Given the description of an element on the screen output the (x, y) to click on. 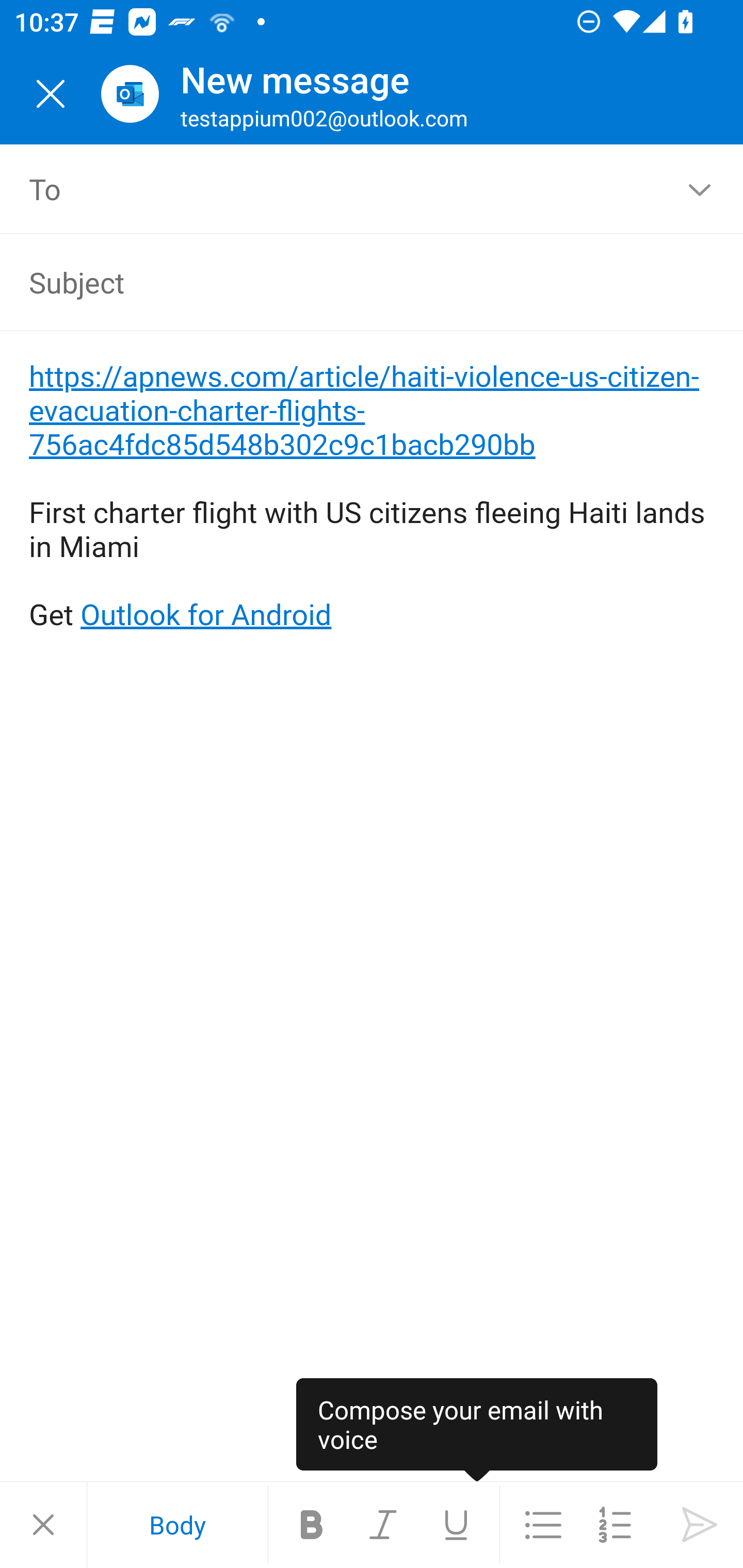
Compose your email with voice (476, 1429)
